Given the description of an element on the screen output the (x, y) to click on. 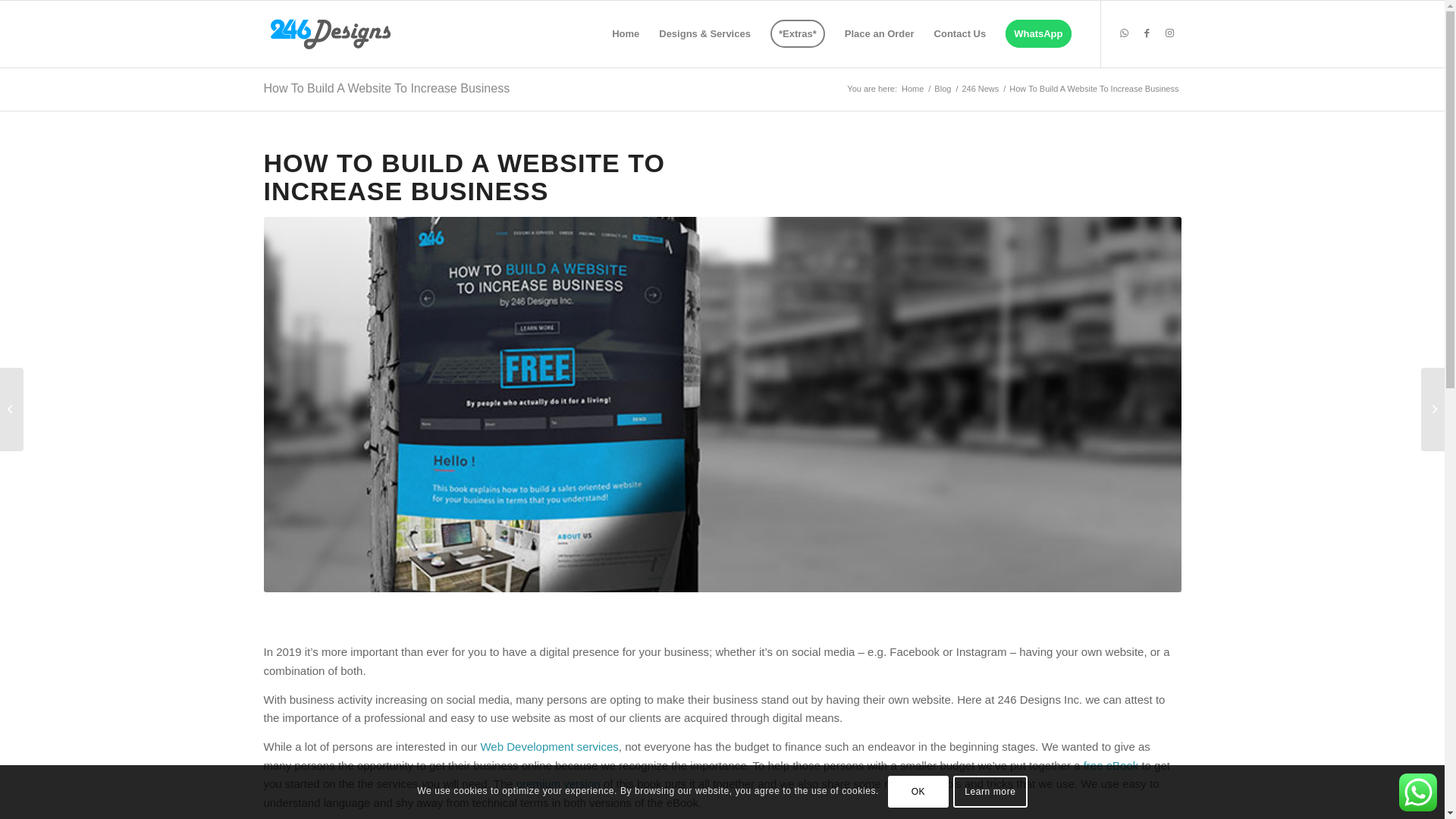
Home Element type: text (625, 33)
*Extras* Element type: text (797, 33)
Home Element type: text (912, 88)
How To Build A Website To Increase Business Element type: text (386, 87)
Designs & Services Element type: text (704, 33)
Blog Element type: text (942, 88)
Facebook Element type: hover (1146, 32)
premium version Element type: text (558, 783)
246 Designs Element type: hover (330, 33)
WhatsApp Element type: hover (1124, 32)
WhatsApp Element type: text (1037, 33)
OK Element type: text (918, 791)
Place an Order Element type: text (879, 33)
How To Build A Website To Increase Business Element type: hover (722, 404)
Web Development services Element type: text (549, 746)
Learn more Element type: text (990, 791)
Instagram Element type: hover (1169, 32)
Contact Us Element type: text (960, 33)
246 News Element type: text (980, 88)
free eBook Element type: text (1111, 765)
